Given the description of an element on the screen output the (x, y) to click on. 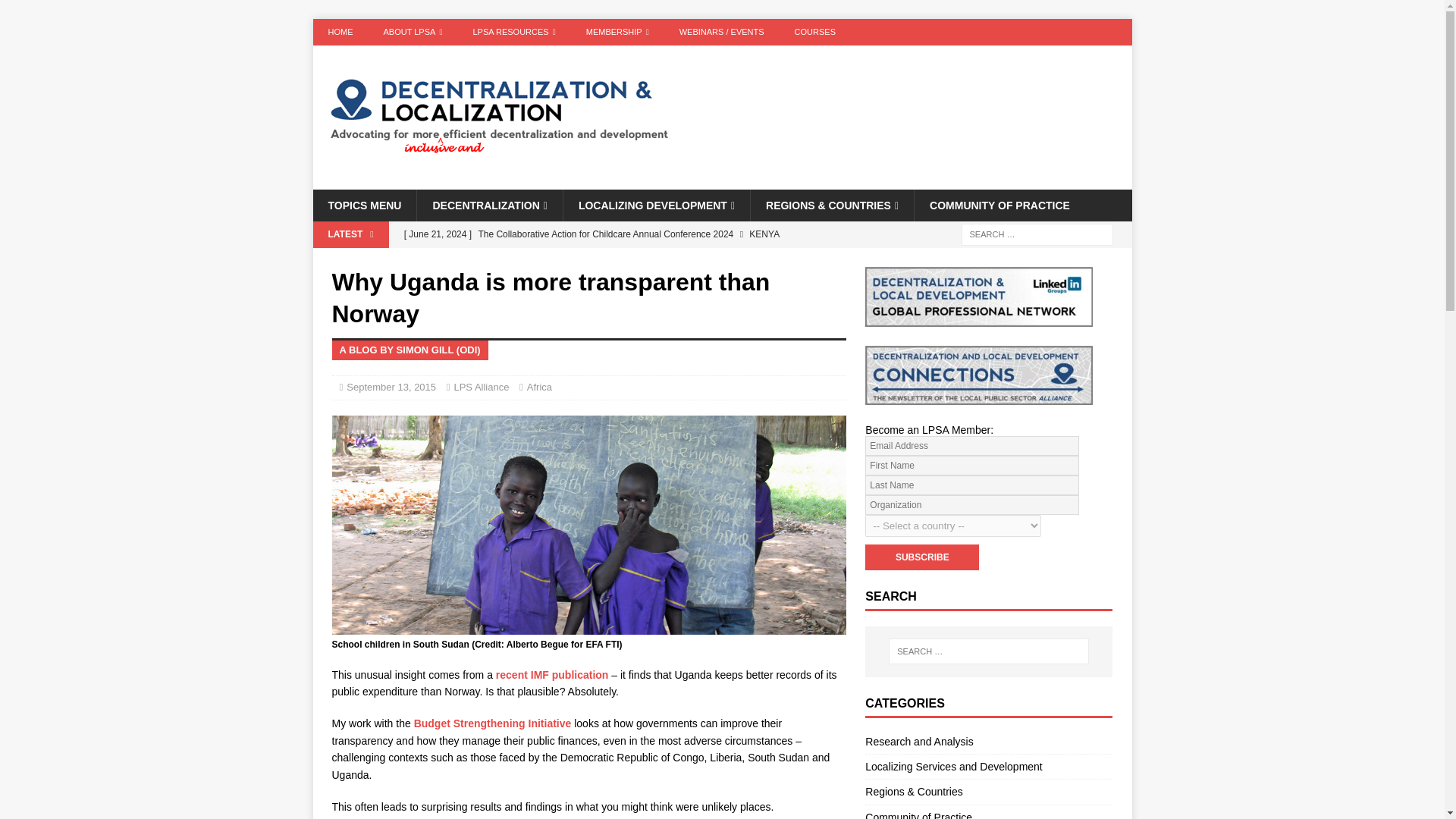
Subscribe (921, 557)
HOME (340, 31)
ABOUT LPSA (413, 31)
LPSA RESOURCES (513, 31)
